Given the description of an element on the screen output the (x, y) to click on. 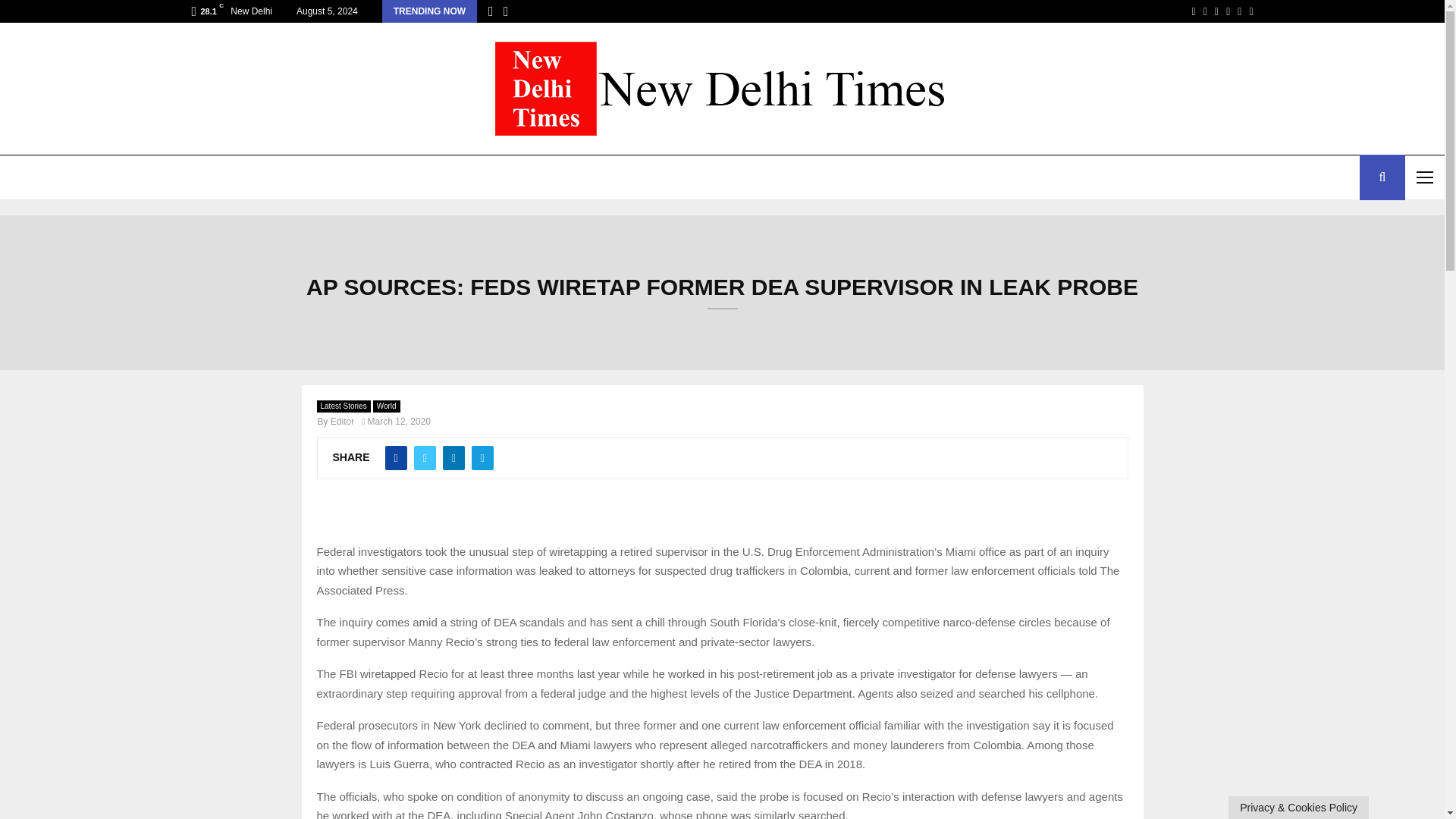
WORLD (148, 176)
SPORTS (283, 176)
LATEST STORIES (56, 176)
